Given the description of an element on the screen output the (x, y) to click on. 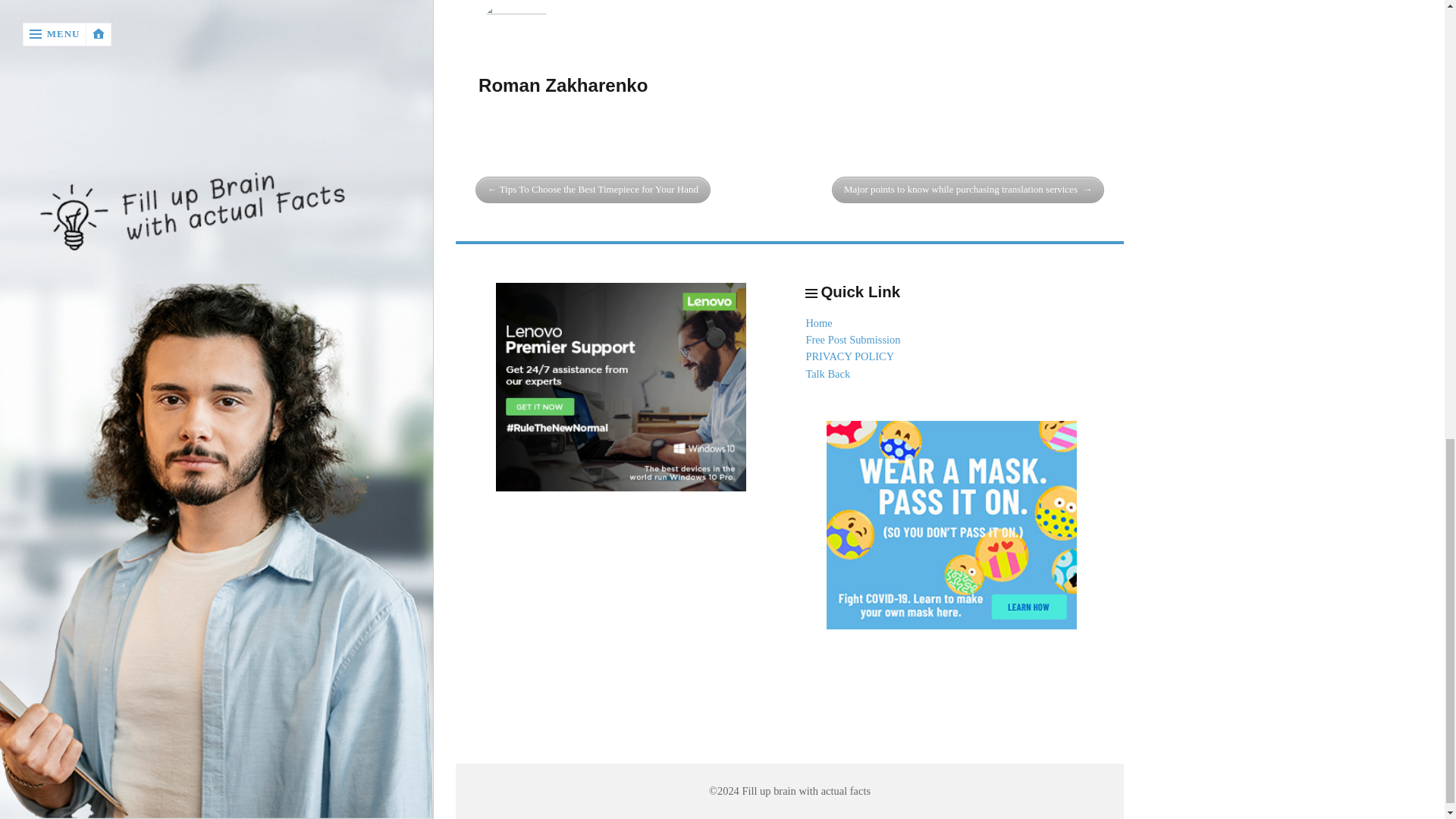
PRIVACY POLICY (849, 356)
Major points to know while purchasing translation services  (967, 189)
Talk Back (827, 373)
Home (818, 322)
Free Post Submission (852, 339)
Tips To Choose the Best Timepiece for Your Hand (593, 189)
